Given the description of an element on the screen output the (x, y) to click on. 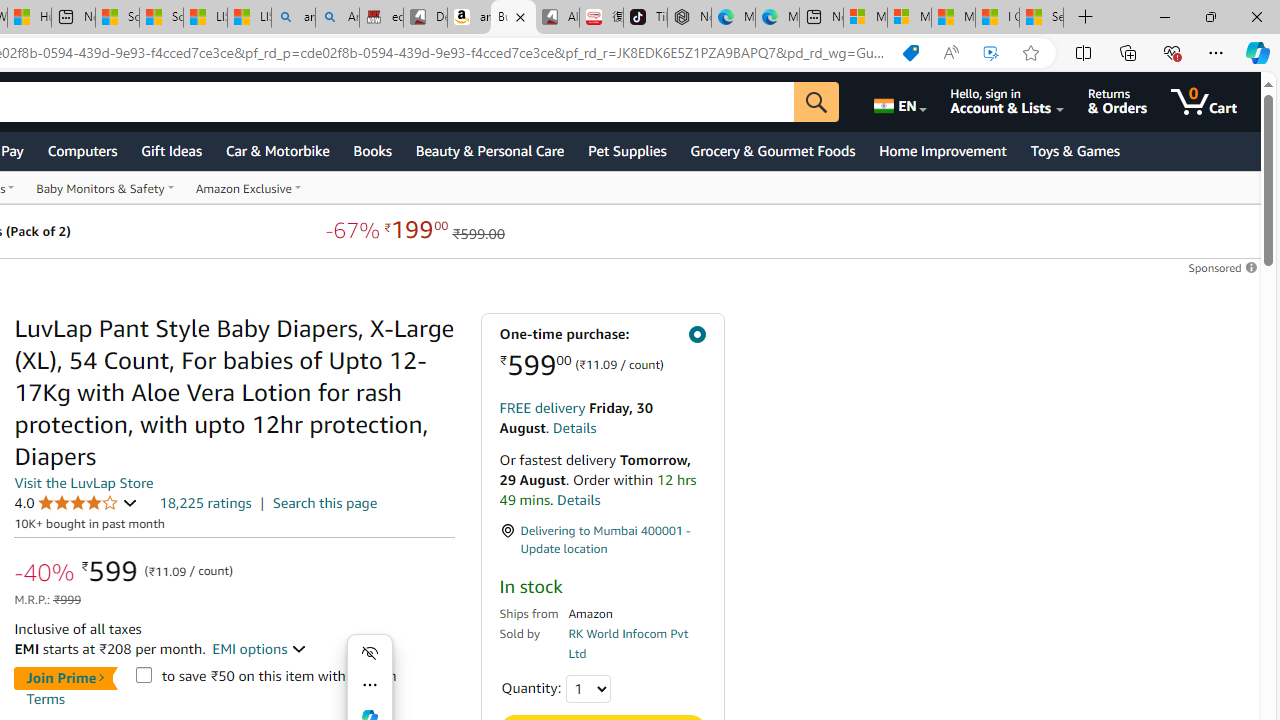
Nordace - Best Sellers (689, 17)
TikTok (644, 17)
amazon - Search (292, 17)
More actions (369, 684)
